Given the description of an element on the screen output the (x, y) to click on. 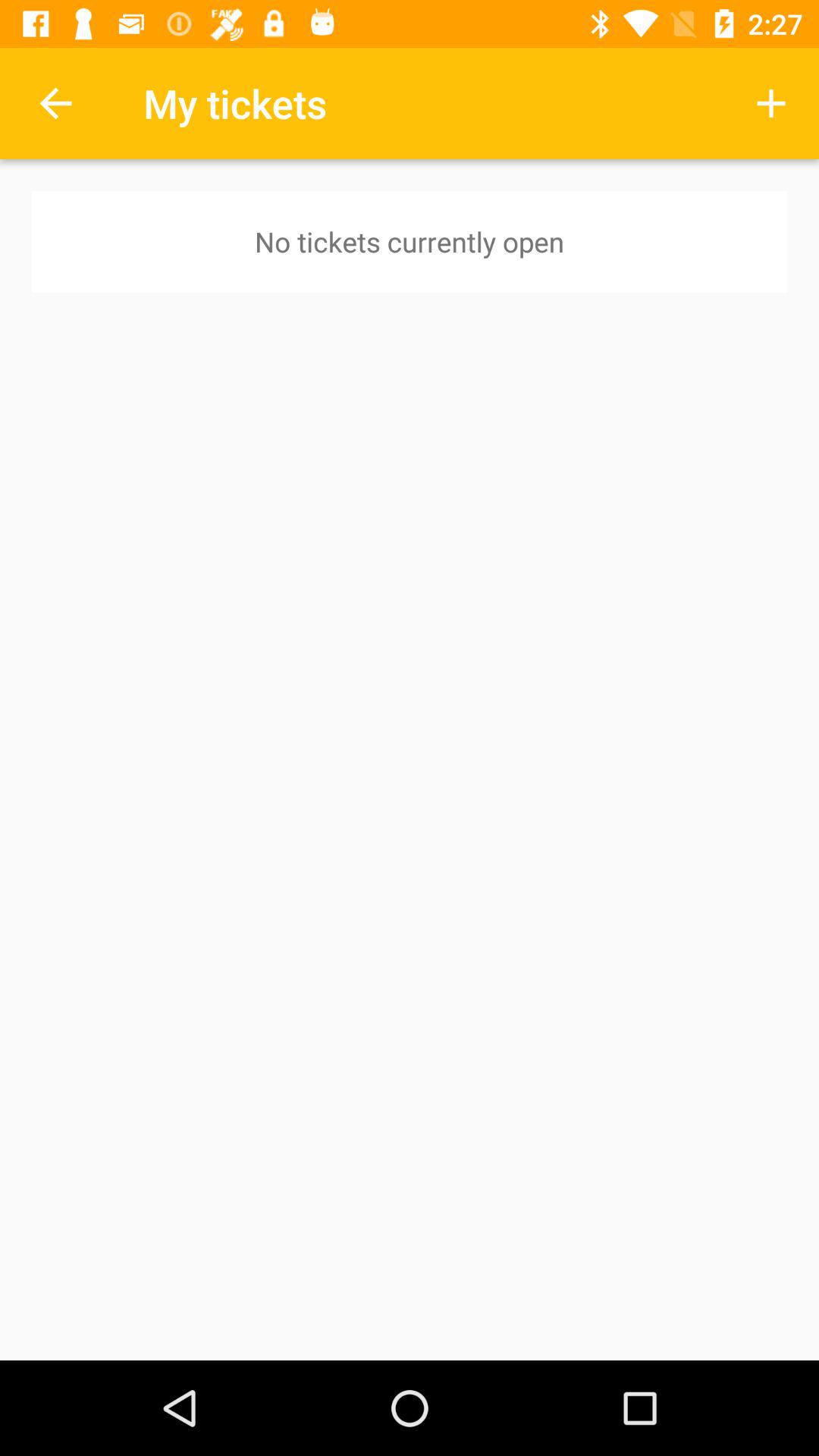
click icon next to the my tickets item (771, 103)
